Given the description of an element on the screen output the (x, y) to click on. 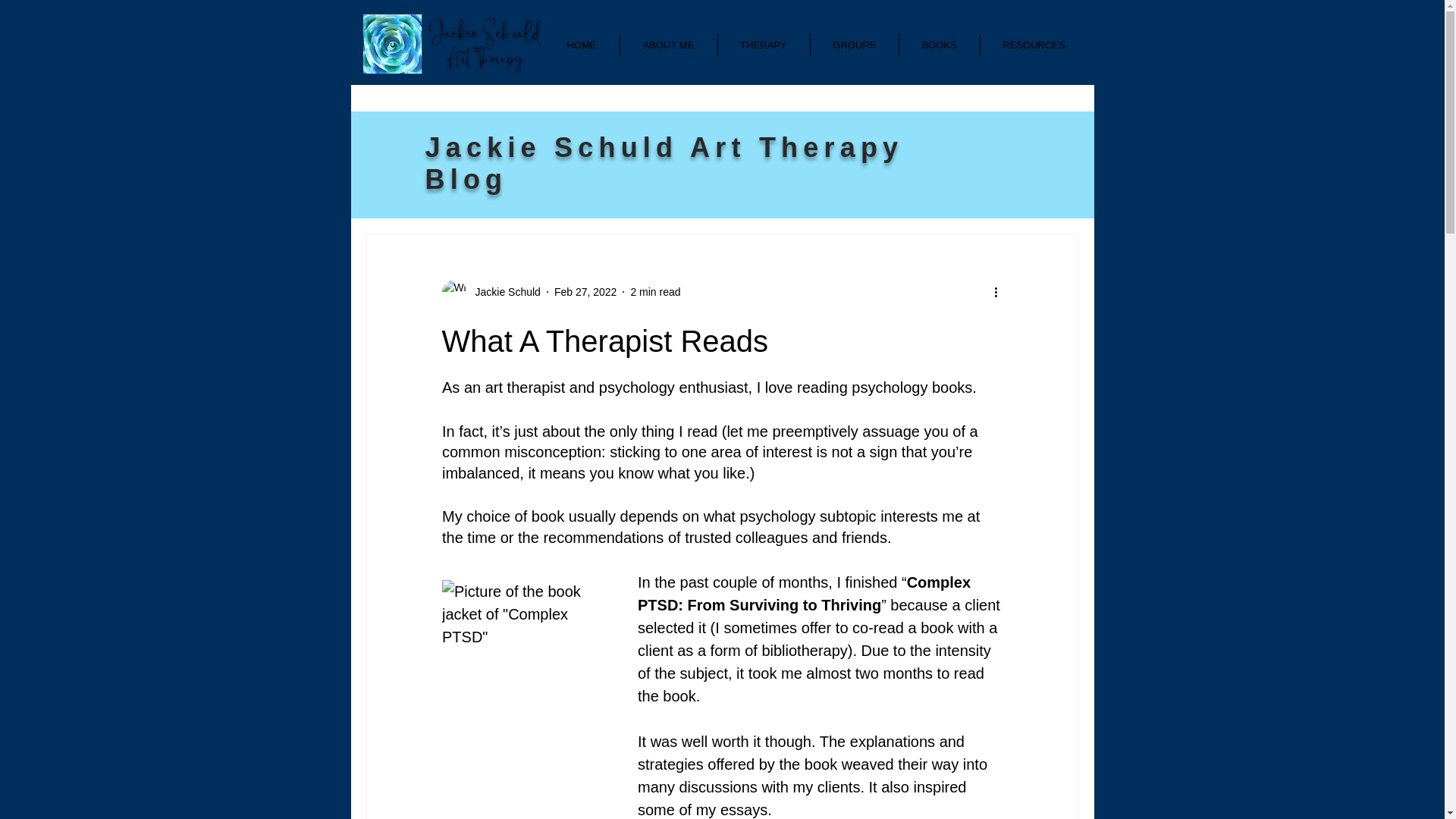
HOME (582, 45)
2 min read (654, 291)
BOOKS (939, 45)
Jackie Schuld (502, 291)
RESOURCES (1033, 45)
ABOUT ME (668, 45)
Jackie Schuld (490, 291)
Feb 27, 2022 (585, 291)
THERAPY (763, 45)
GROUPS (853, 45)
